Given the description of an element on the screen output the (x, y) to click on. 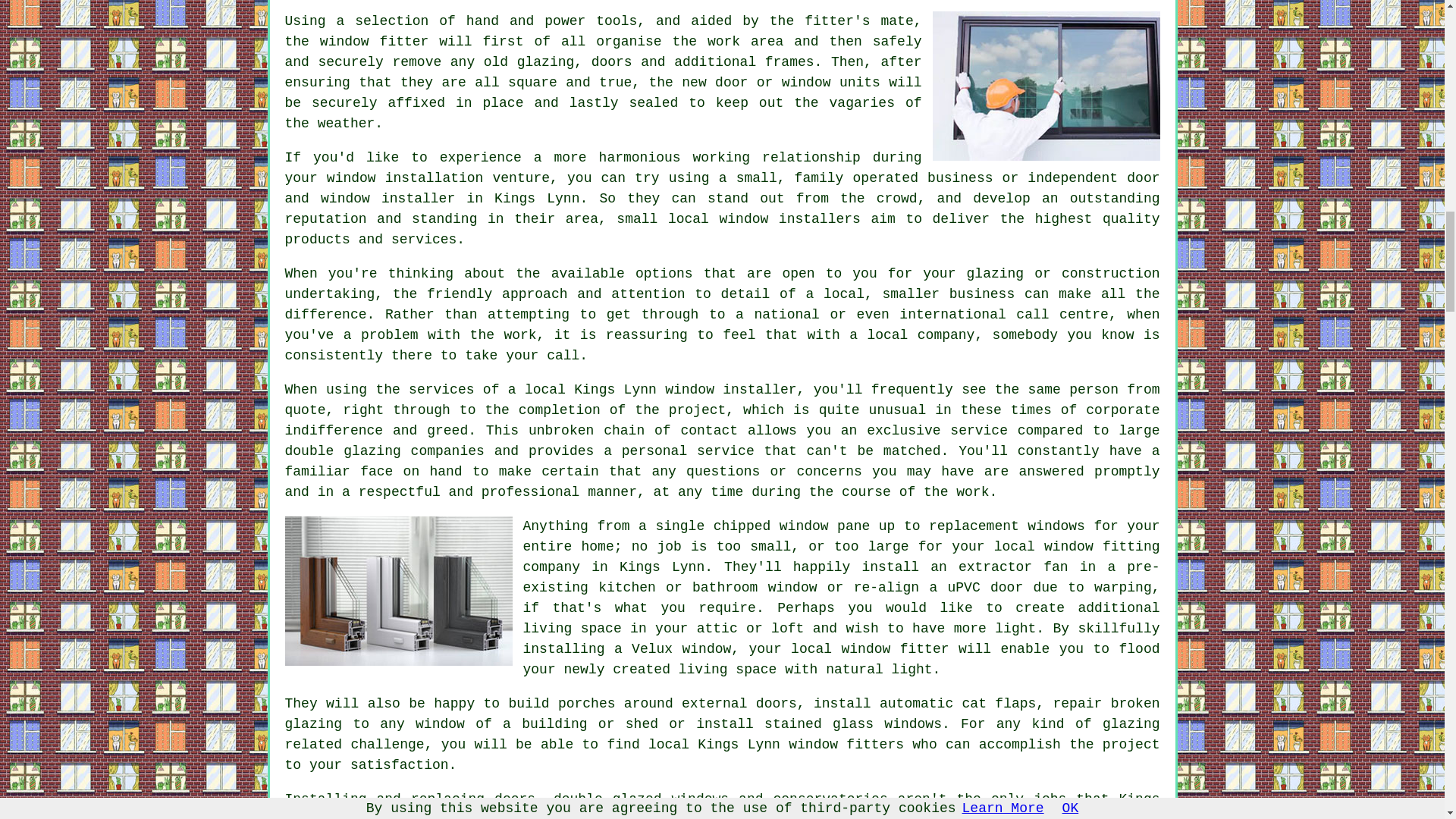
Window Fitter Near Kings Lynn Norfolk (1046, 85)
